Given the description of an element on the screen output the (x, y) to click on. 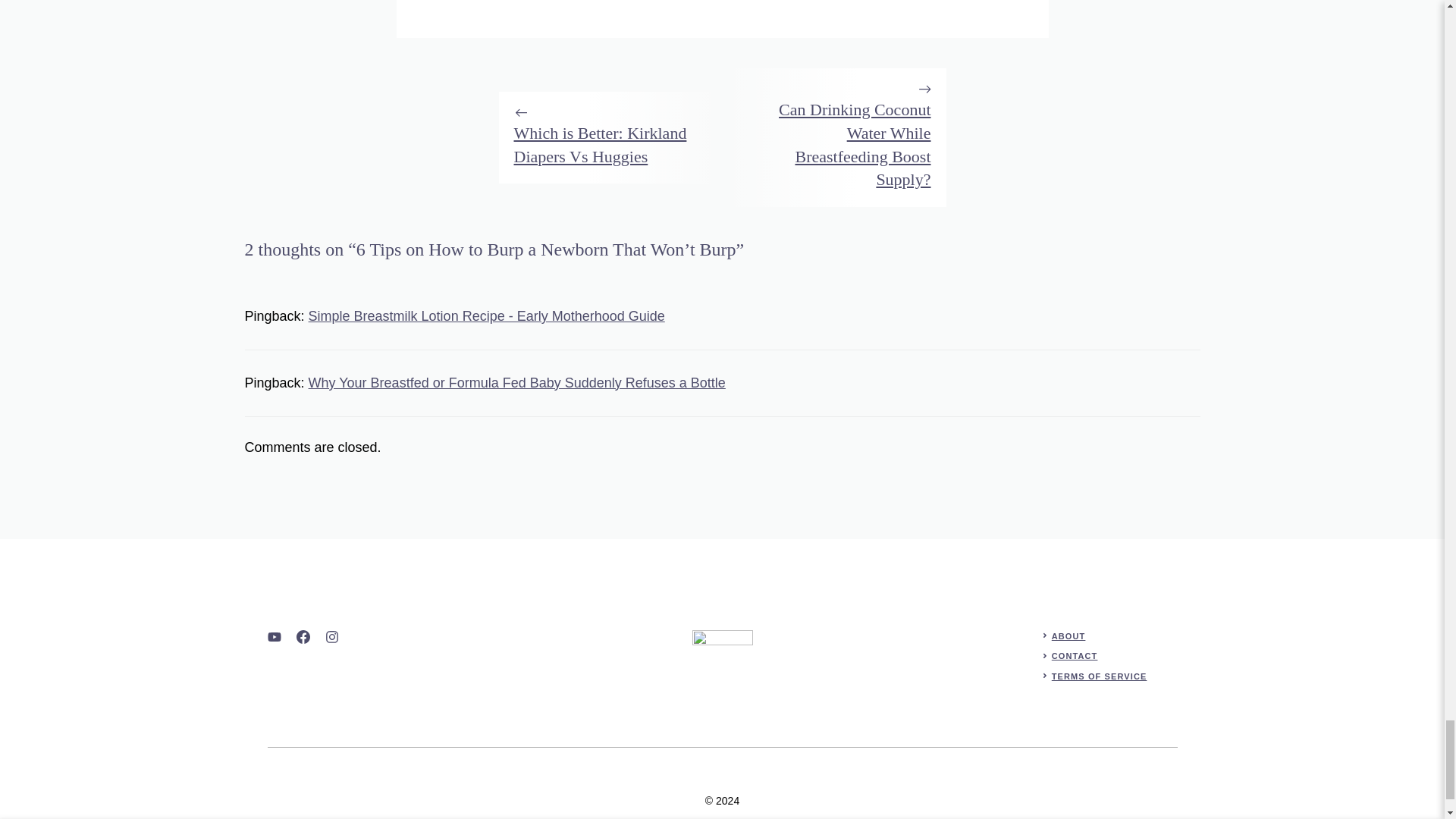
logo-EMG-e1681116118384 (721, 659)
